Given the description of an element on the screen output the (x, y) to click on. 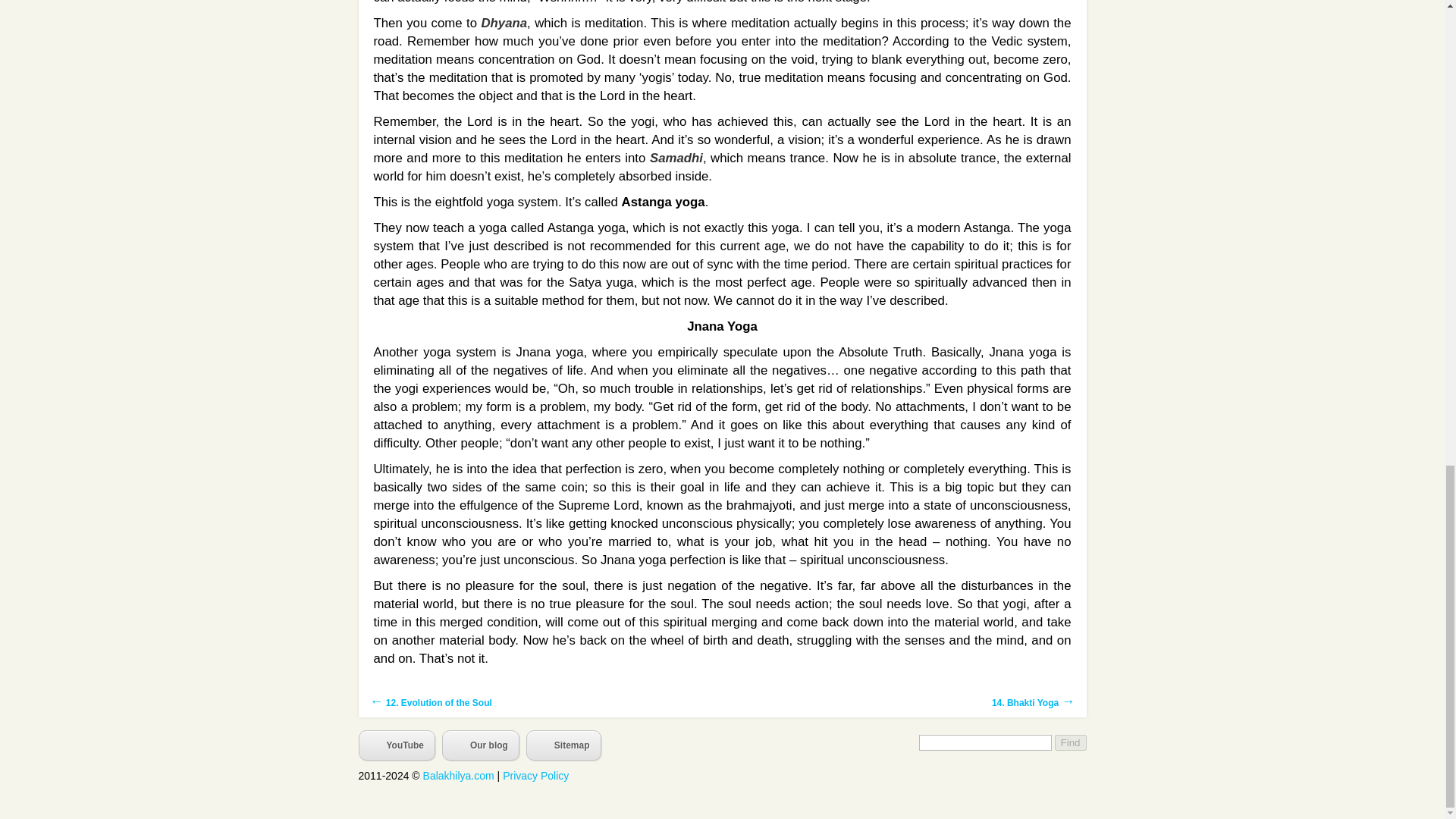
YouTube (396, 745)
Our blog (480, 745)
Find (1070, 742)
Balakhilya.com (459, 775)
Privacy Policy (535, 775)
Sitemap (563, 745)
Find (1070, 742)
